Given the description of an element on the screen output the (x, y) to click on. 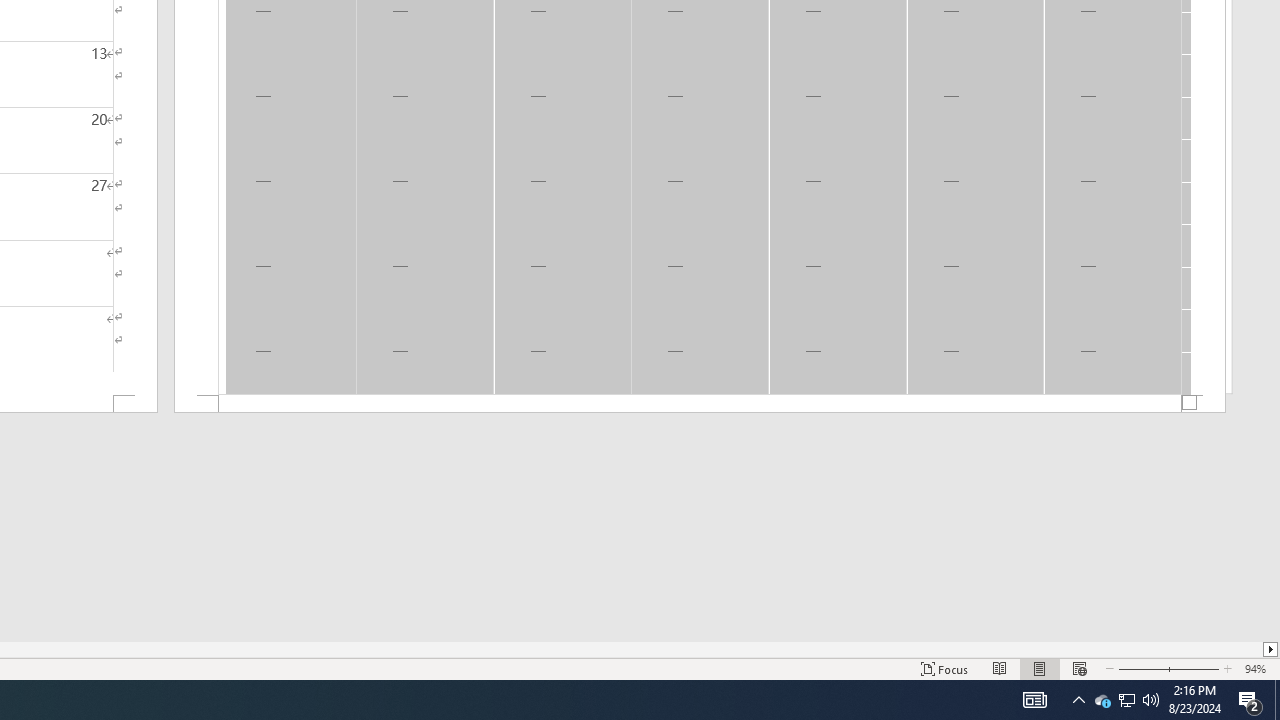
Footer -Section 1- (700, 404)
Column right (1271, 649)
